Given the description of an element on the screen output the (x, y) to click on. 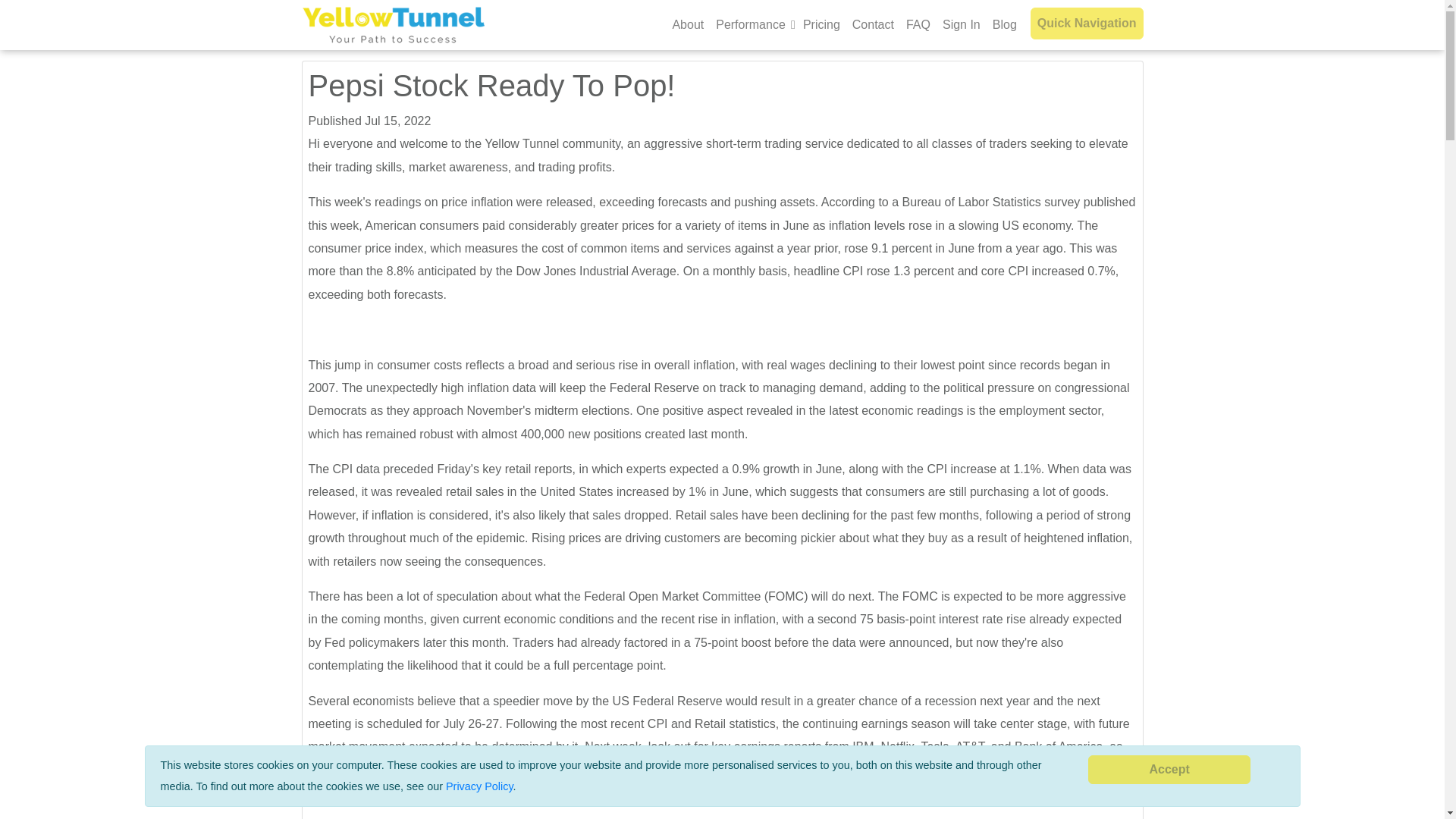
About (687, 24)
Blog (1005, 24)
Performance (753, 24)
FAQ (917, 24)
Quick Navigation (1086, 23)
Pricing (820, 24)
Accept (1168, 769)
Sign In (961, 24)
Contact (872, 24)
Privacy Policy (479, 786)
